Given the description of an element on the screen output the (x, y) to click on. 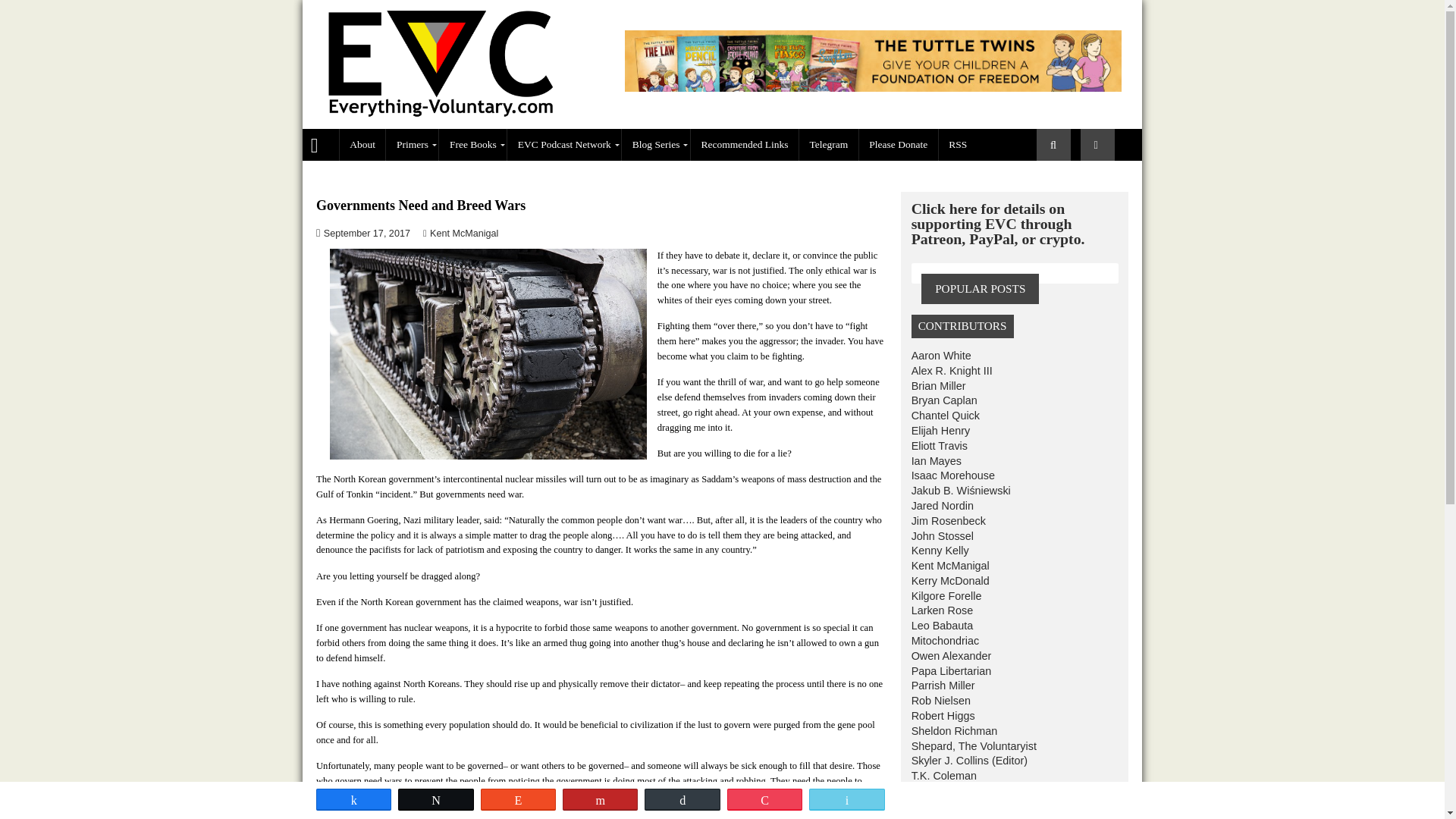
Posts by Jared Nordin (1046, 561)
Posts by Eliott Travis (1043, 495)
Posts by Elijah Henry (1044, 478)
Posts by Chantel Quick (1049, 461)
Posts by Brian Miller (1042, 427)
About (402, 161)
Posts by Alex R. Knight III (1056, 411)
Posts by Jim Rosenbeck (1052, 578)
Posts by Ian Mayes (1039, 511)
Primers (458, 161)
Everything-Voluntary.com (355, 159)
Posts by Isaac Morehouse (1058, 528)
EVC Podcast Network (627, 161)
Posts by Bryan Caplan (1048, 445)
Posts by Aaron White (1044, 395)
